Given the description of an element on the screen output the (x, y) to click on. 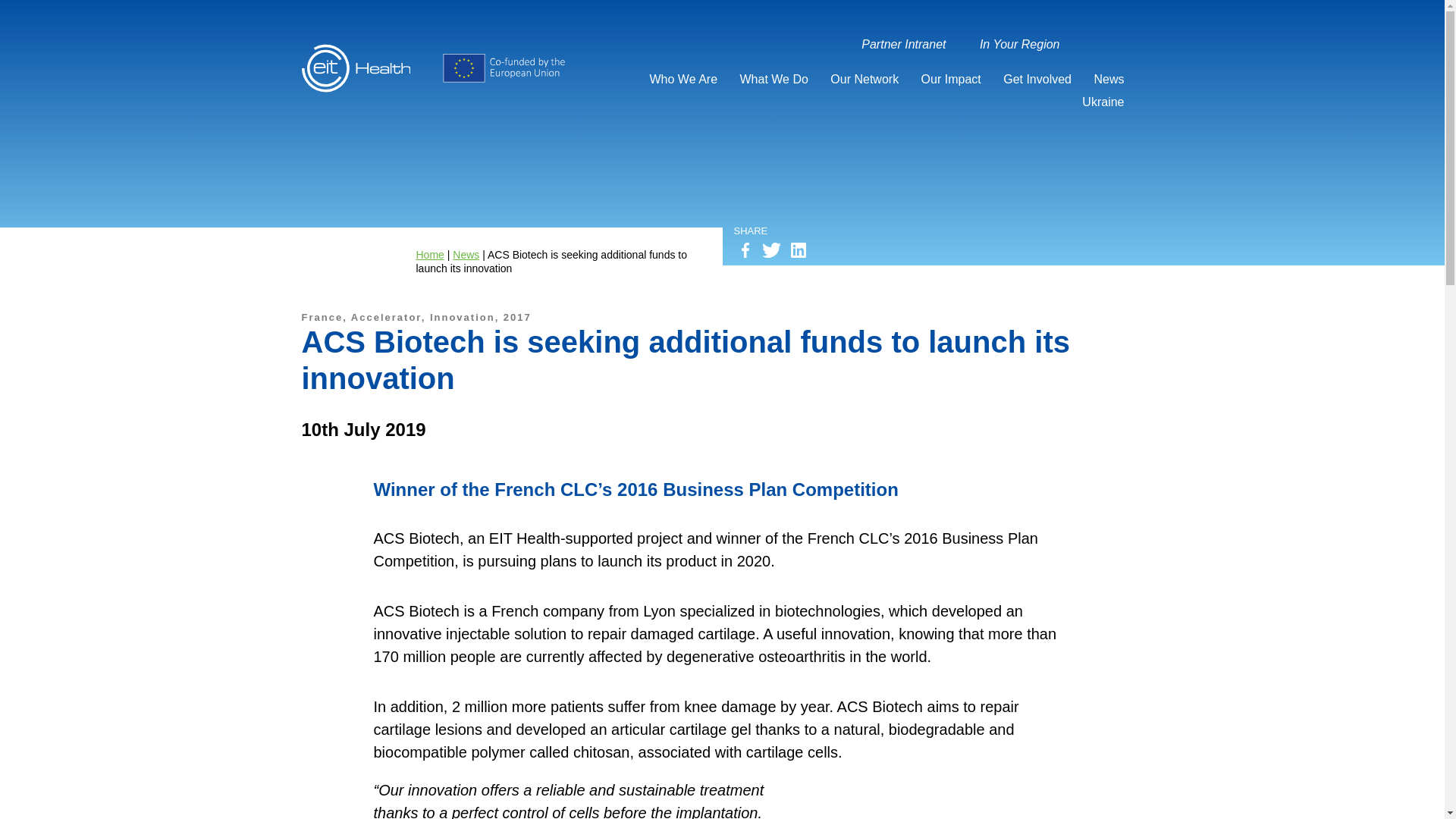
Who We Are (687, 76)
Partner Intranet (907, 42)
Our Network (867, 76)
News (1112, 76)
Our Impact (954, 76)
What We Do (777, 76)
Get Involved (1040, 76)
Ukraine (1106, 99)
In Your Region (1023, 42)
